Given the description of an element on the screen output the (x, y) to click on. 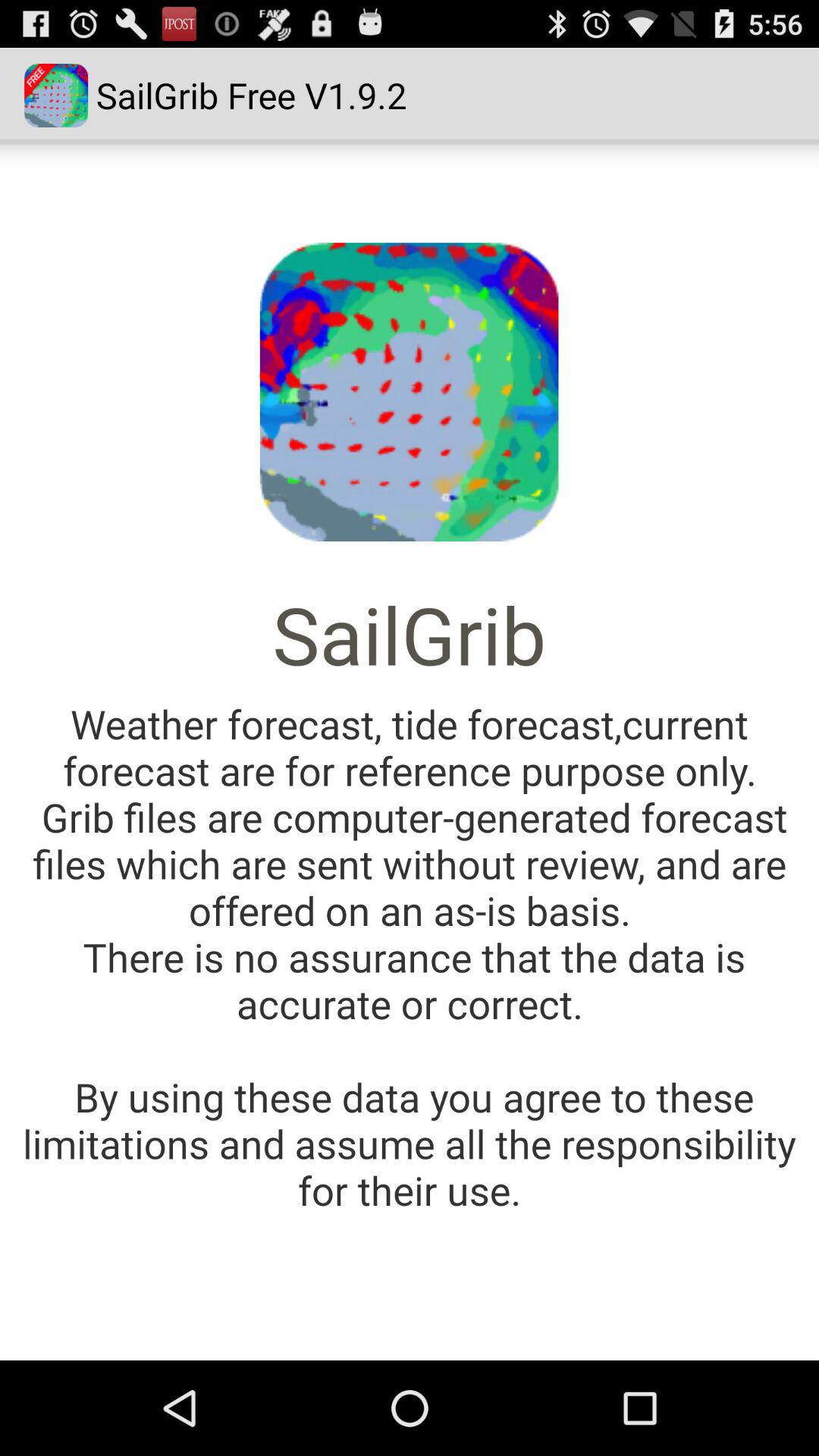
swipe until the weather forecast tide (409, 956)
